Given the description of an element on the screen output the (x, y) to click on. 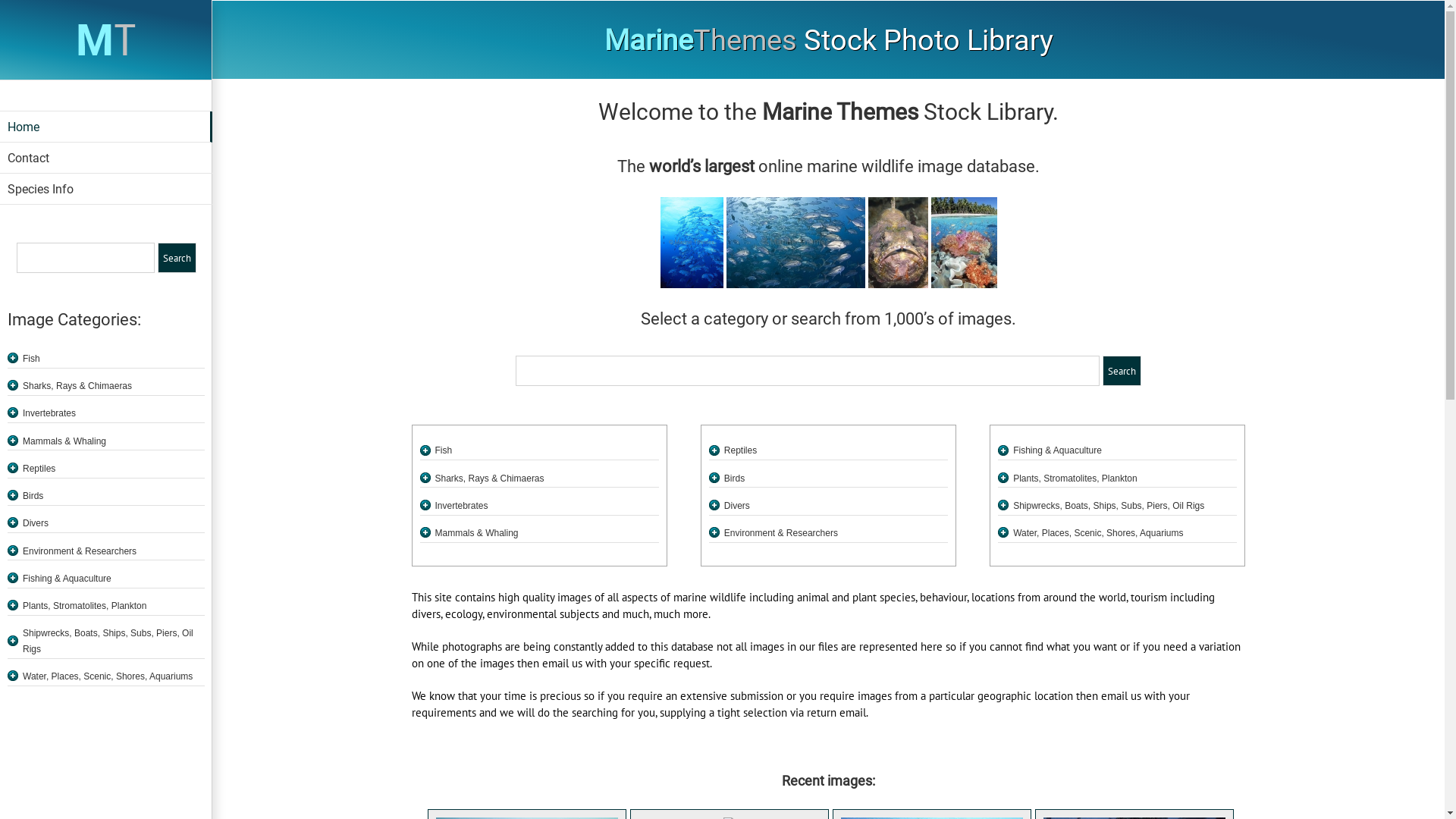
Environment & Researchers Element type: text (113, 550)
Contact Element type: text (106, 157)
Plants, Stromatolites, Plankton Element type: text (1124, 478)
Water, Places, Scenic, Shores, Aquariums Element type: text (113, 676)
Reptiles Element type: text (113, 468)
Mammals & Whaling Element type: text (546, 532)
Plants, Stromatolites, Plankton Element type: text (113, 605)
Sharks, Rays & Chimaeras Element type: text (546, 478)
Birds Element type: text (835, 478)
Fishing & Aquaculture Element type: text (1124, 450)
Fishing & Aquaculture Element type: text (113, 578)
Fish Element type: text (113, 358)
Environment & Researchers Element type: text (835, 532)
Birds Element type: text (113, 495)
False Stonefish (Scorpaenopsis diabolus) portrait. Element type: hover (897, 242)
Search Element type: text (1121, 370)
Invertebrates Element type: text (546, 505)
Divers Element type: text (835, 505)
Shipwrecks, Boats, Ships, Subs, Piers, Oil Rigs Element type: text (113, 640)
Divers Element type: text (113, 522)
Home Element type: text (106, 126)
Invertebrates Element type: text (113, 412)
Shipwrecks, Boats, Ships, Subs, Piers, Oil Rigs Element type: text (1124, 505)
Fish Element type: text (546, 450)
Sharks, Rays & Chimaeras Element type: text (113, 385)
Reptiles Element type: text (835, 450)
Water, Places, Scenic, Shores, Aquariums Element type: text (1124, 532)
Search Element type: text (176, 257)
Mammals & Whaling Element type: text (113, 440)
Species Info Element type: text (106, 188)
Bigeye Trevally (Caranx sexfasciatus) schooling. Element type: hover (690, 242)
Bigeye Trevally (Caranx sexfasciatus) Element type: hover (795, 242)
